Given the description of an element on the screen output the (x, y) to click on. 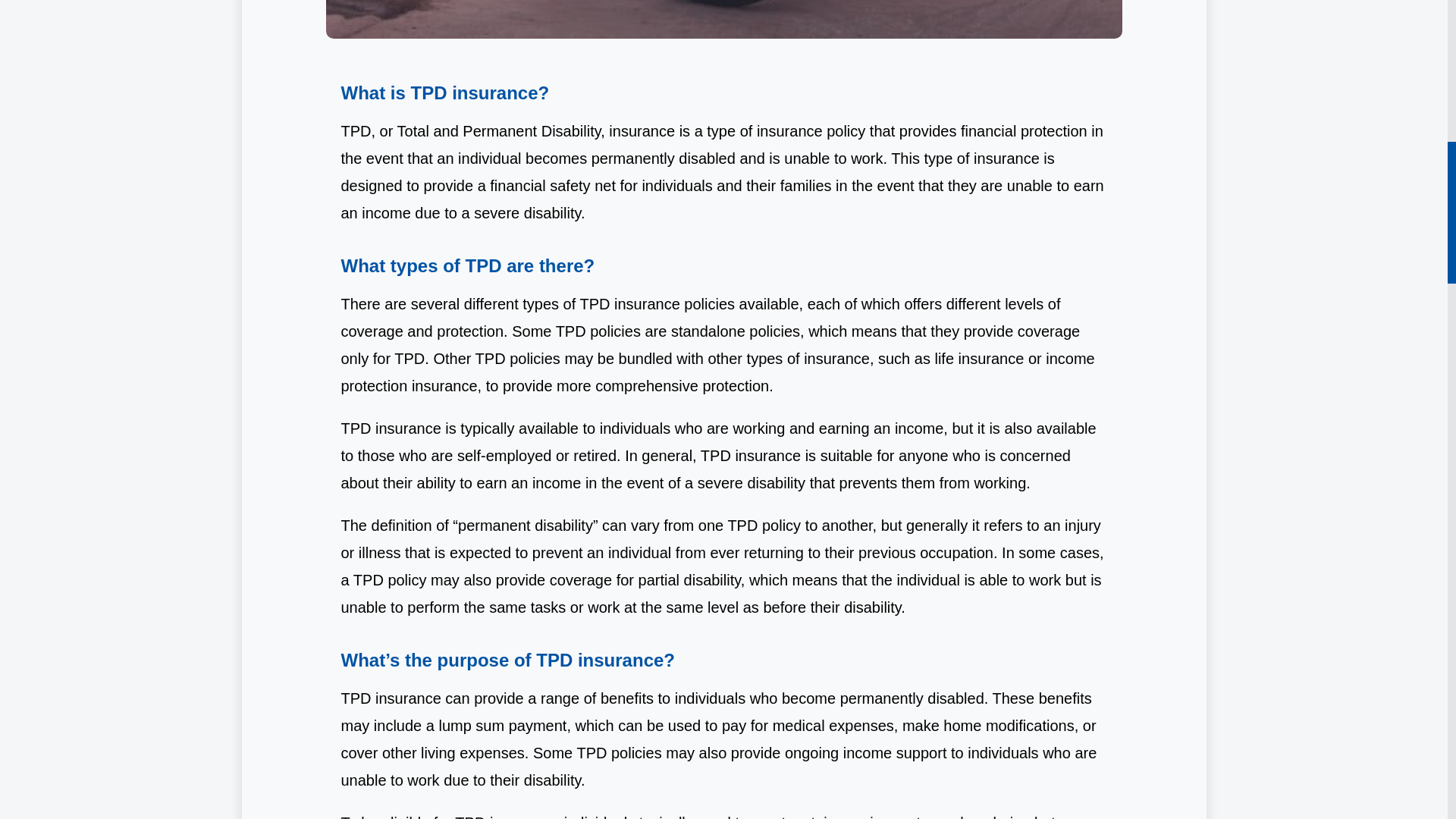
wooozxh-EmnZyCjHhgs-unsplash (724, 19)
